Given the description of an element on the screen output the (x, y) to click on. 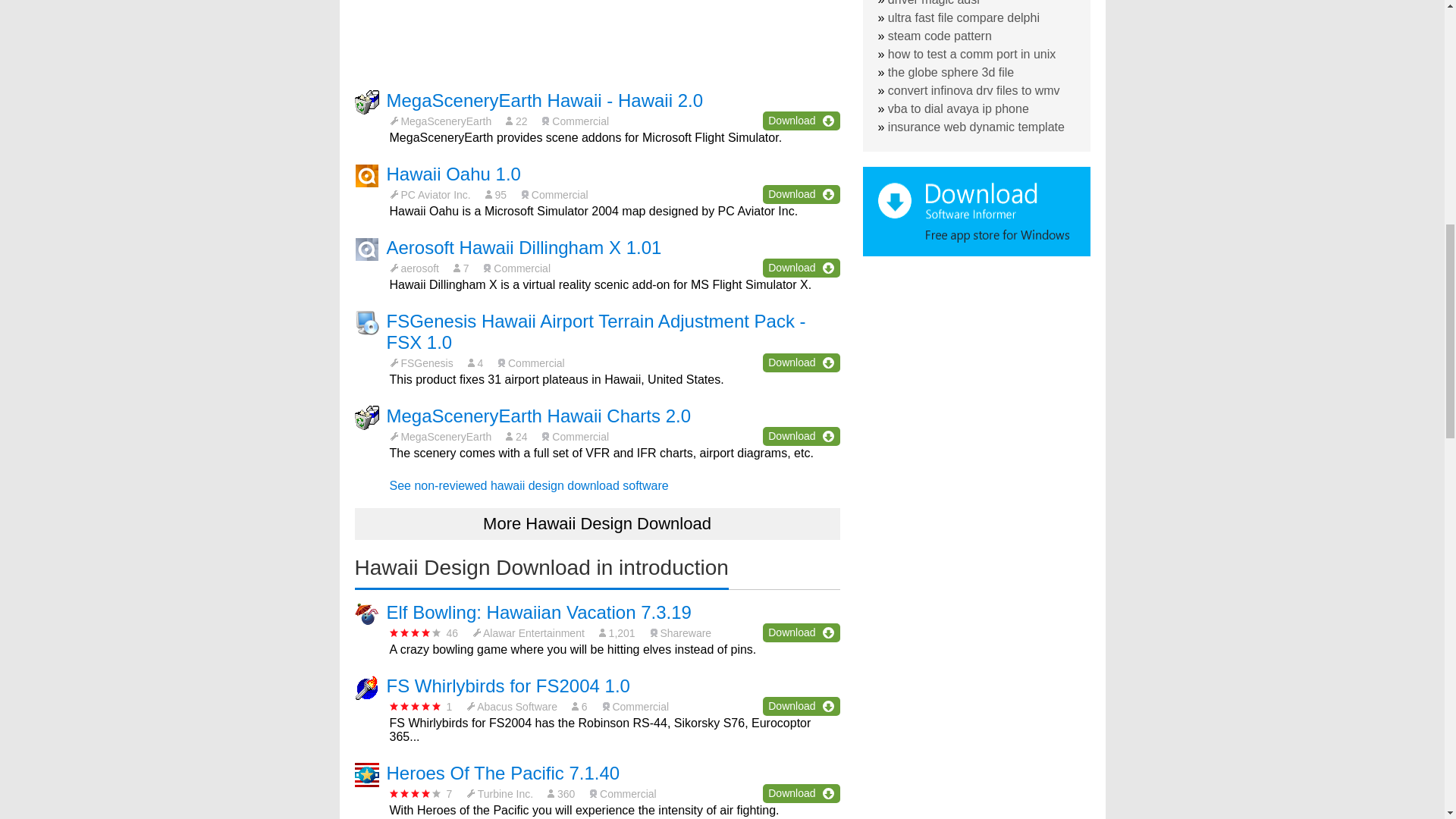
5 (415, 705)
Download (801, 793)
FSGenesis Hawaii Airport Terrain Adjustment Pack - FSX 1.0 (596, 331)
MegaSceneryEarth Hawaii - Hawaii 2.0 (545, 100)
MegaSceneryEarth Hawaii Charts 2.0 (539, 415)
Download (801, 120)
FS Whirlybirds for FS2004 1.0 (508, 685)
3.9 (415, 793)
Aerosoft Hawaii Dillingham X 1.01 (524, 247)
Download (801, 362)
FSGenesis Hawaii Airport Terrain Adjustment Pack - FSX 1.0 (596, 331)
Download (801, 435)
Hawaii Oahu 1.0 (454, 173)
Download (801, 705)
MegaSceneryEarth Hawaii Charts 2.0 (539, 415)
